Given the description of an element on the screen output the (x, y) to click on. 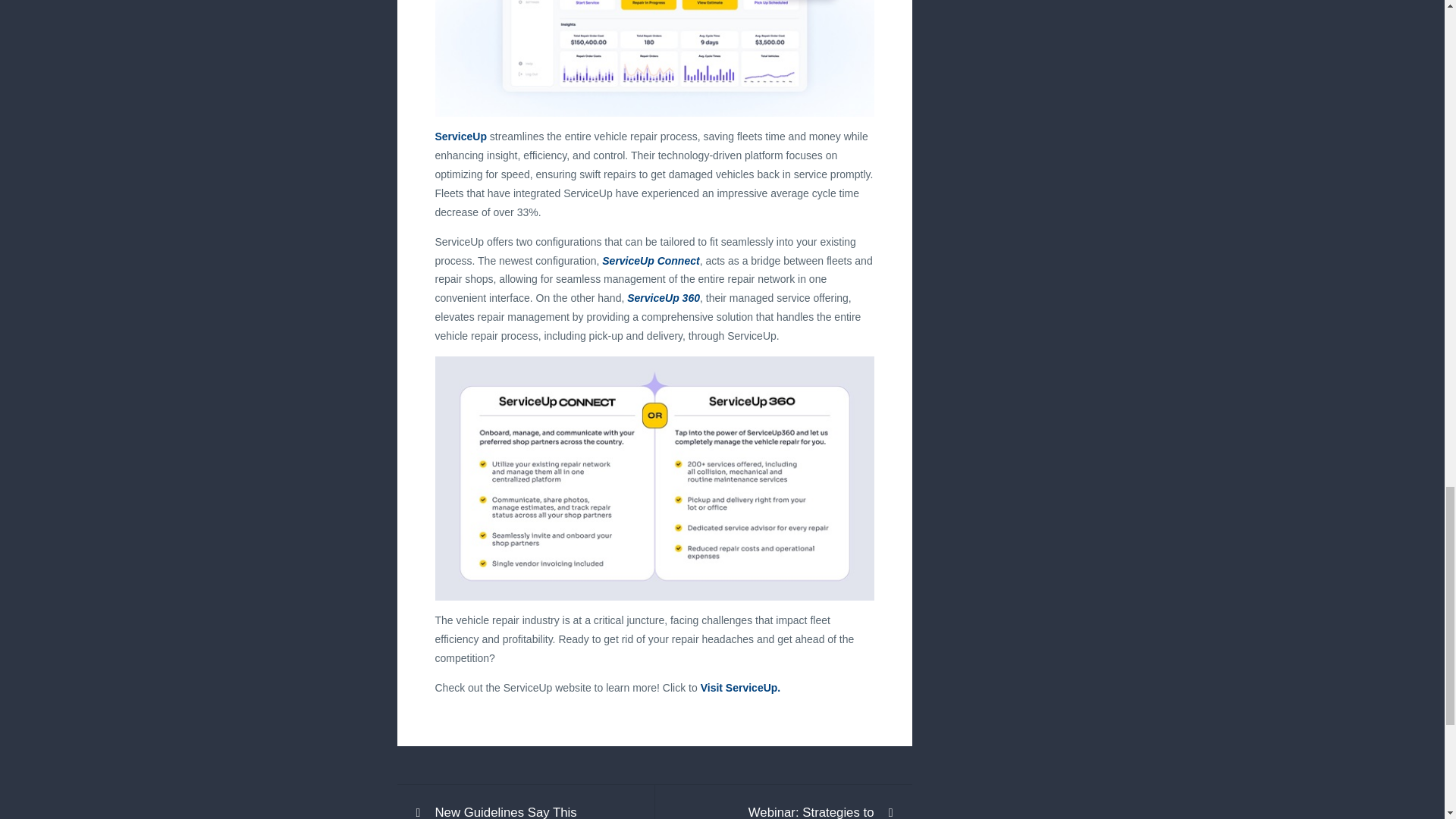
Previous (523, 811)
ServiceUp Connect (650, 260)
Visit ServiceUp. (740, 687)
ServiceUp 360 (663, 297)
ServiceUp (460, 136)
Next (786, 811)
